Given the description of an element on the screen output the (x, y) to click on. 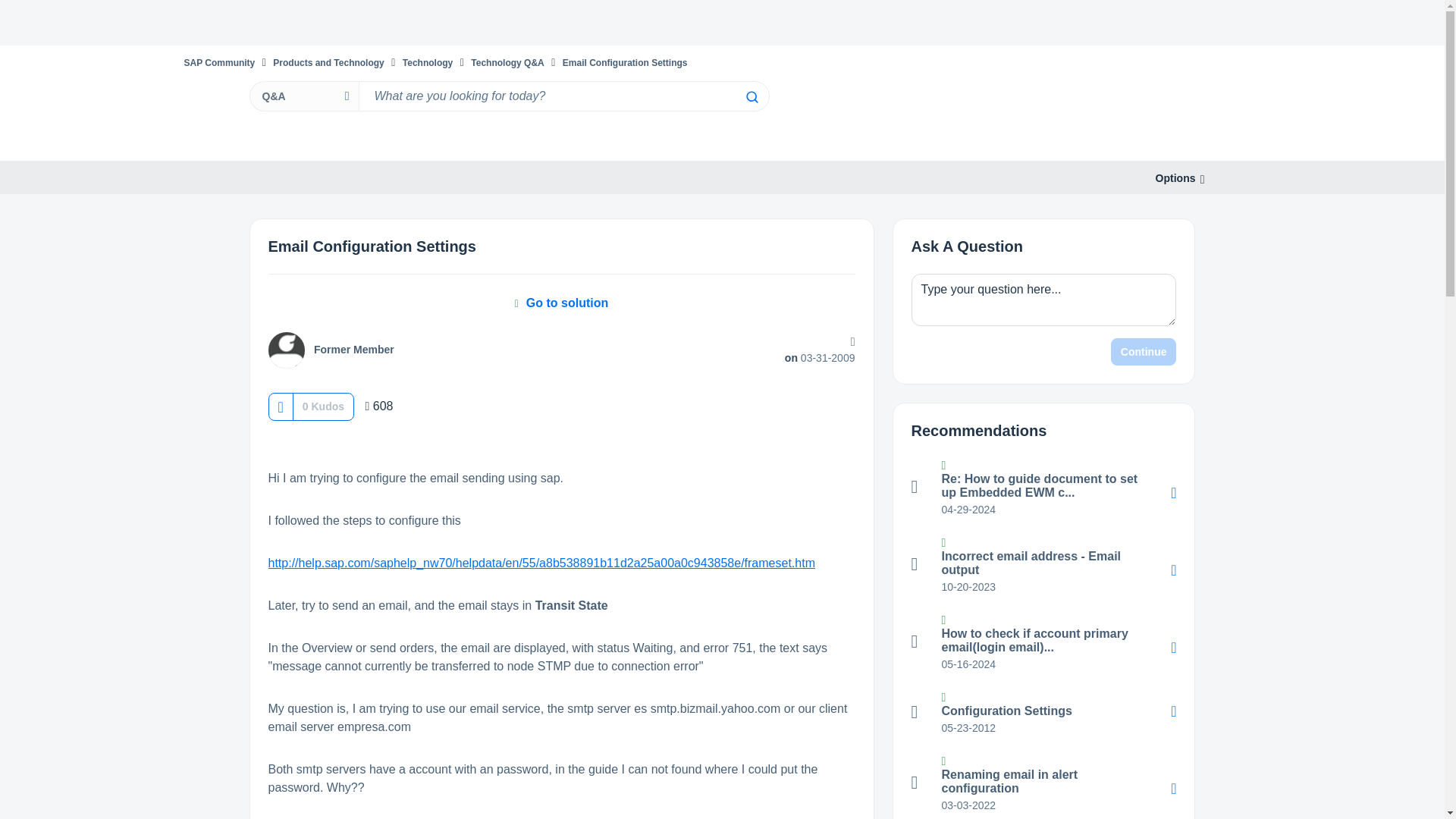
Search (563, 96)
Show option menu (1176, 178)
SAP Community (218, 62)
Search (750, 96)
Search Granularity (303, 96)
Click here to give kudos to this post. (279, 406)
Search (750, 96)
The total number of kudos this post has received. (323, 406)
Products and Technology (328, 62)
Technology (427, 62)
Continue (1143, 351)
Options (1176, 178)
Search (750, 96)
Go to solution (561, 302)
